Given the description of an element on the screen output the (x, y) to click on. 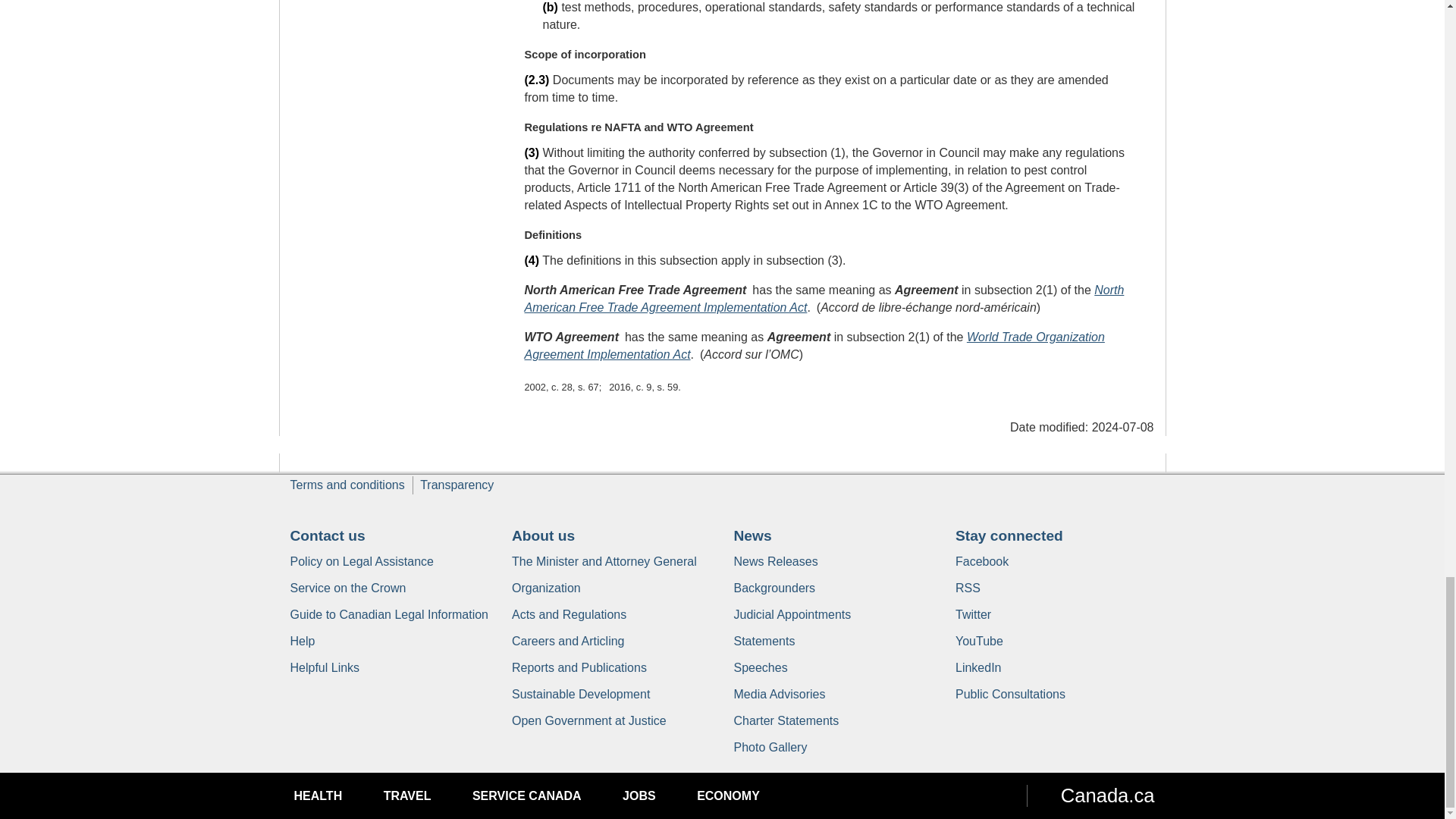
Helpful links (324, 667)
North American Free Trade Agreement Implementation Act (824, 298)
World Trade Organization Agreement Implementation Act (814, 345)
